Given the description of an element on the screen output the (x, y) to click on. 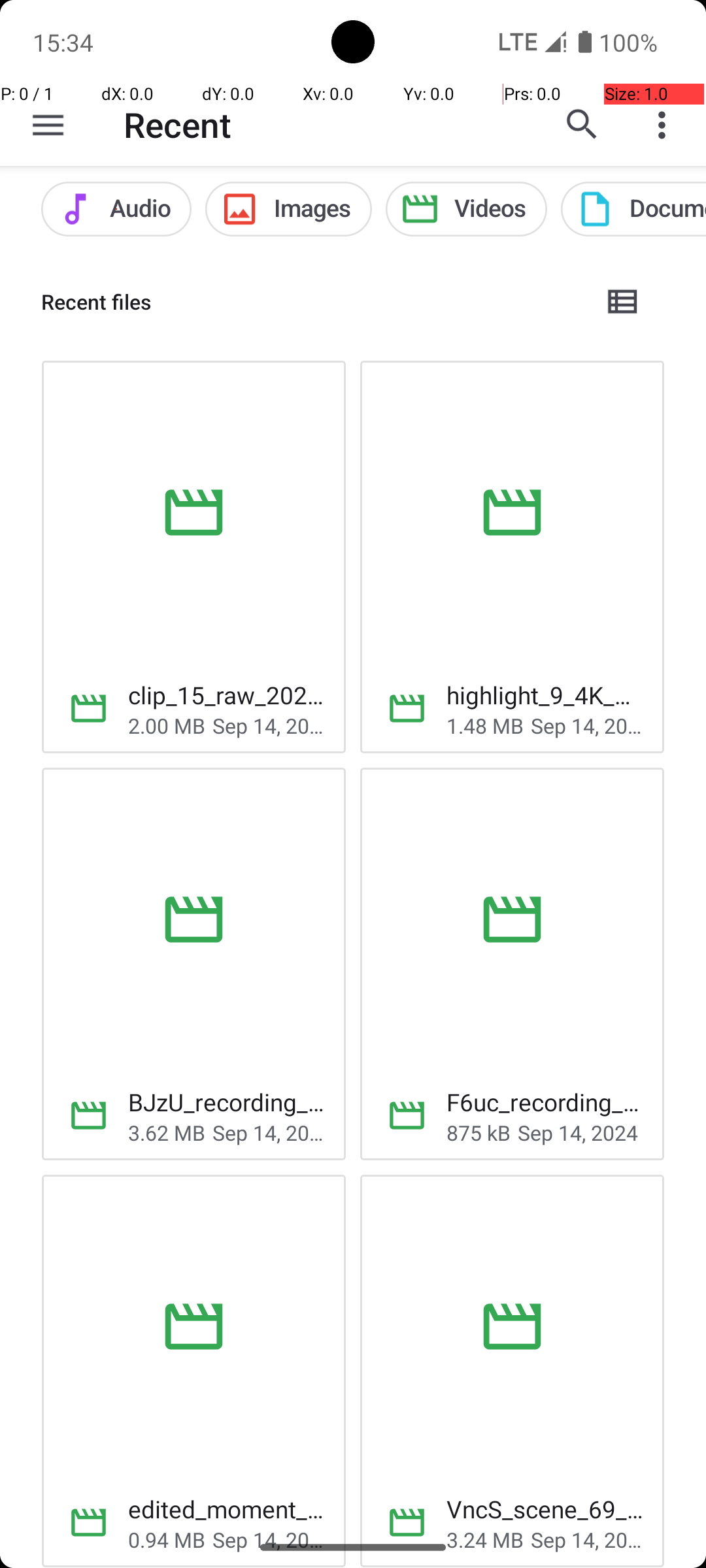
clip_15_raw_2023_05_29.mp4 Element type: android.widget.TextView (226, 694)
2.00 MB Element type: android.widget.TextView (166, 725)
Sep 14, 2024 Element type: android.widget.TextView (268, 725)
highlight_9_4K_UsMM.mp4 Element type: android.widget.TextView (544, 694)
1.48 MB Element type: android.widget.TextView (484, 725)
BJzU_recording_19_4K.mp4 Element type: android.widget.TextView (226, 1101)
3.62 MB Element type: android.widget.TextView (166, 1132)
F6uc_recording_24_HD.mp4 Element type: android.widget.TextView (544, 1101)
875 kB Element type: android.widget.TextView (478, 1132)
edited_moment_99_export.mp4 Element type: android.widget.TextView (226, 1508)
0.94 MB Element type: android.widget.TextView (166, 1539)
VncS_scene_69_.mp4 Element type: android.widget.TextView (544, 1508)
3.24 MB Element type: android.widget.TextView (484, 1539)
